Given the description of an element on the screen output the (x, y) to click on. 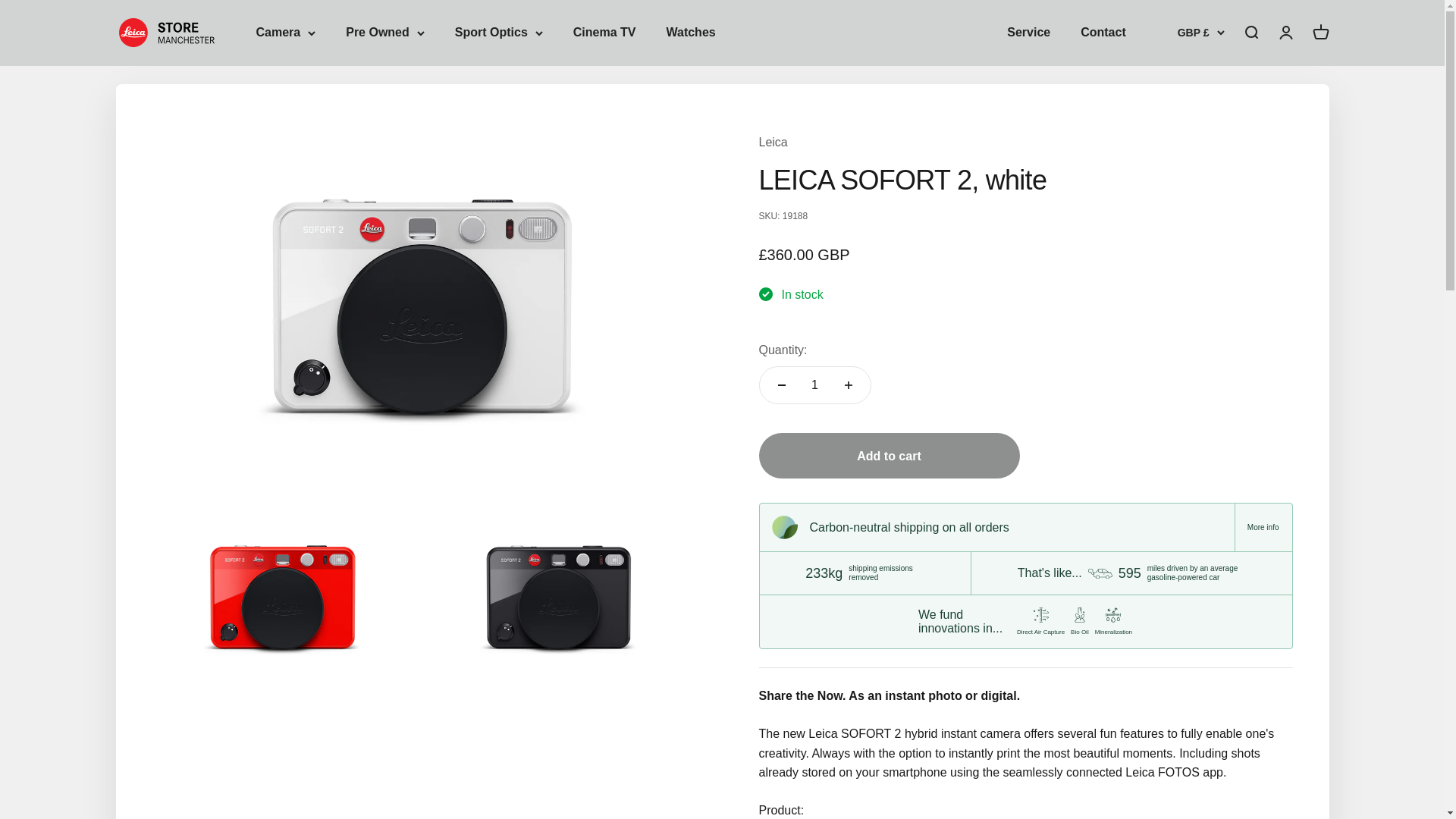
Contact (1102, 31)
Cinema TV (604, 31)
Camera (285, 32)
Service (1028, 31)
Watches (689, 31)
Sport Optics (498, 32)
1 (815, 384)
Leica Store Manchester (170, 32)
Pre Owned (385, 32)
